Given the description of an element on the screen output the (x, y) to click on. 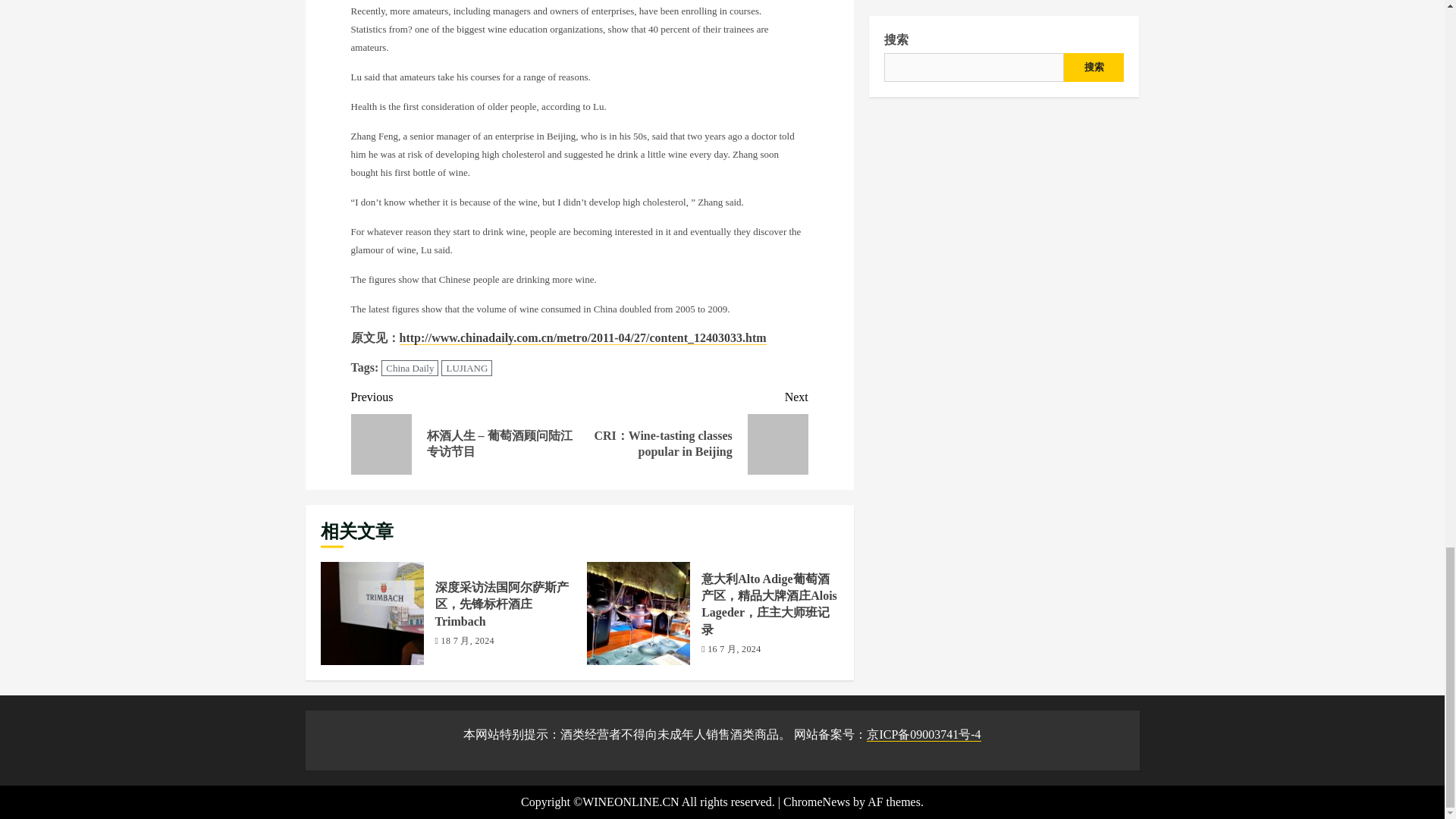
LUJIANG (466, 367)
ChromeNews (816, 801)
China Daily (409, 367)
